Given the description of an element on the screen output the (x, y) to click on. 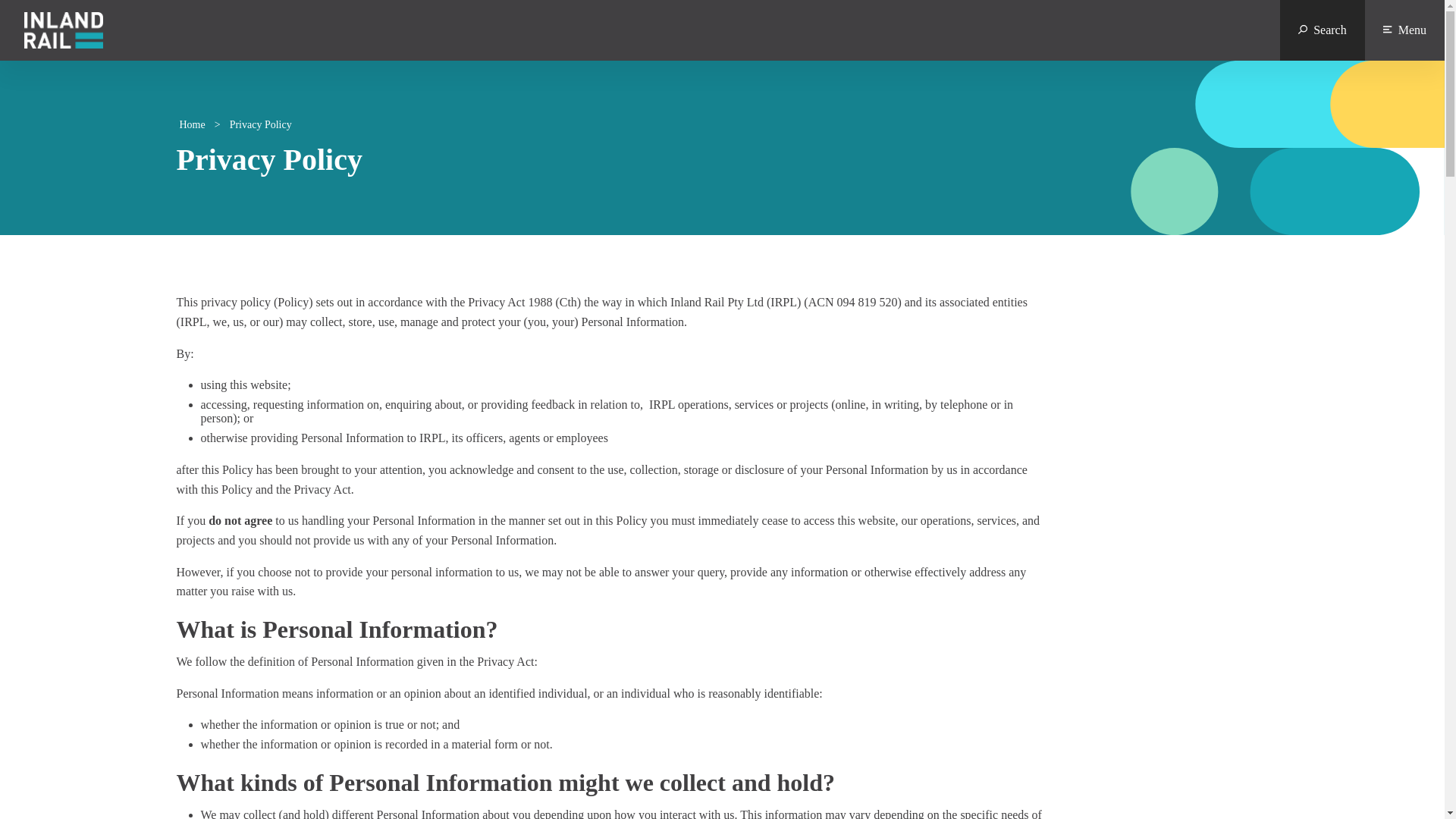
Home (192, 124)
Search (1322, 30)
